Given the description of an element on the screen output the (x, y) to click on. 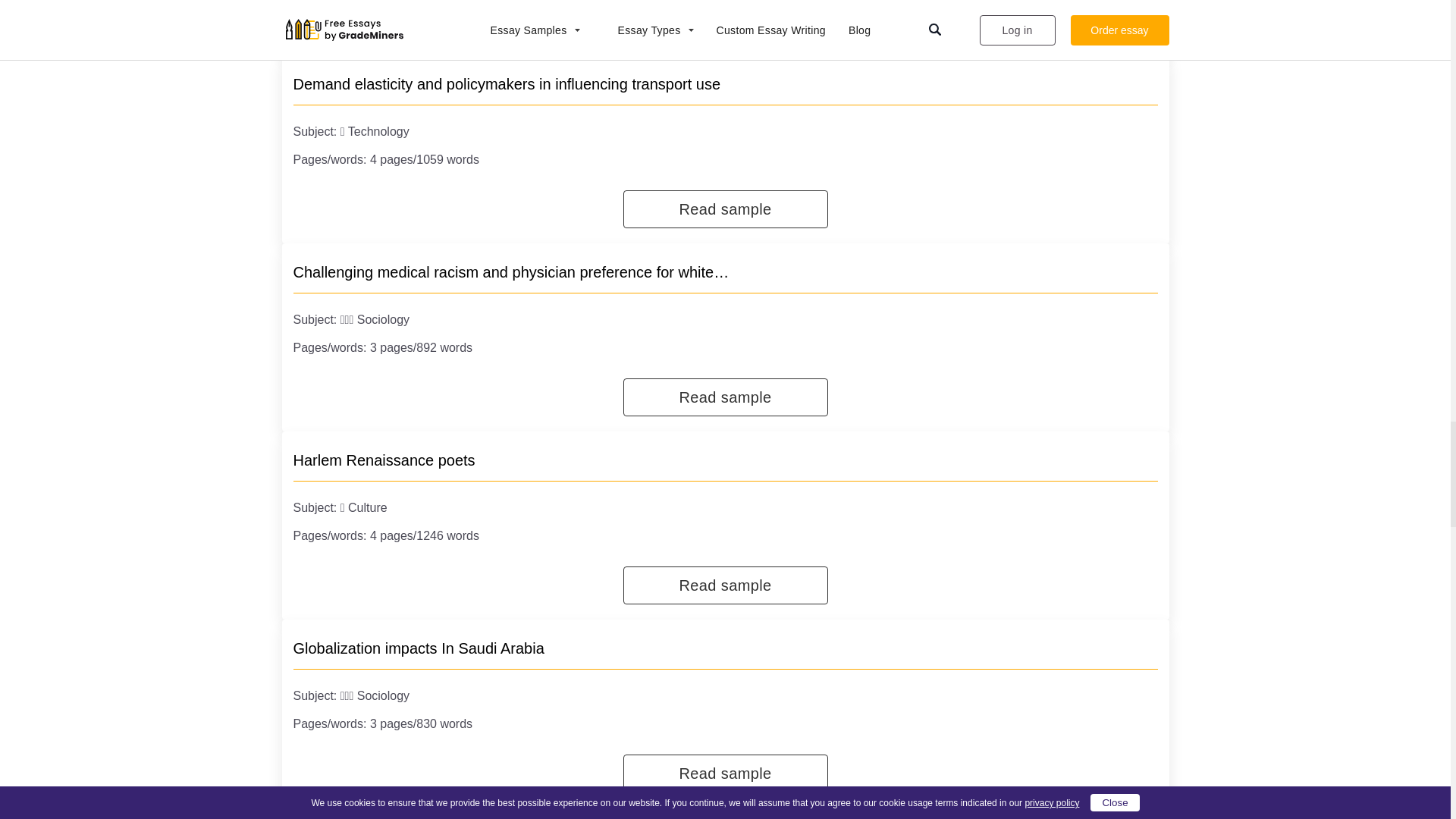
Globalization impacts In Saudi Arabia (417, 647)
Harlem Renaissance poets (383, 460)
